Given the description of an element on the screen output the (x, y) to click on. 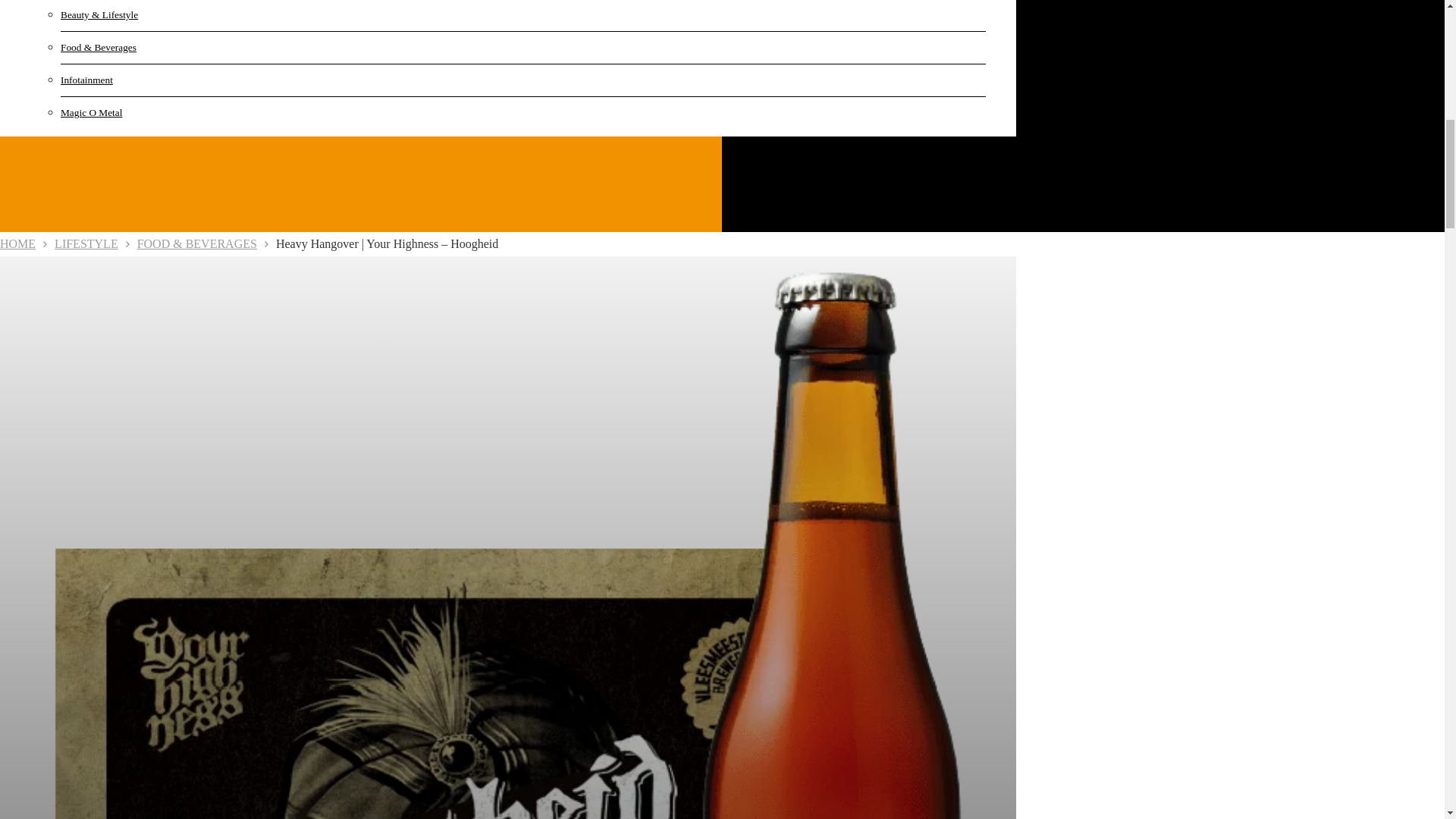
Search (1275, 95)
LIFESTYLE (86, 243)
Infotainment (136, 80)
HOME (17, 243)
Magic O Metal (136, 112)
